Given the description of an element on the screen output the (x, y) to click on. 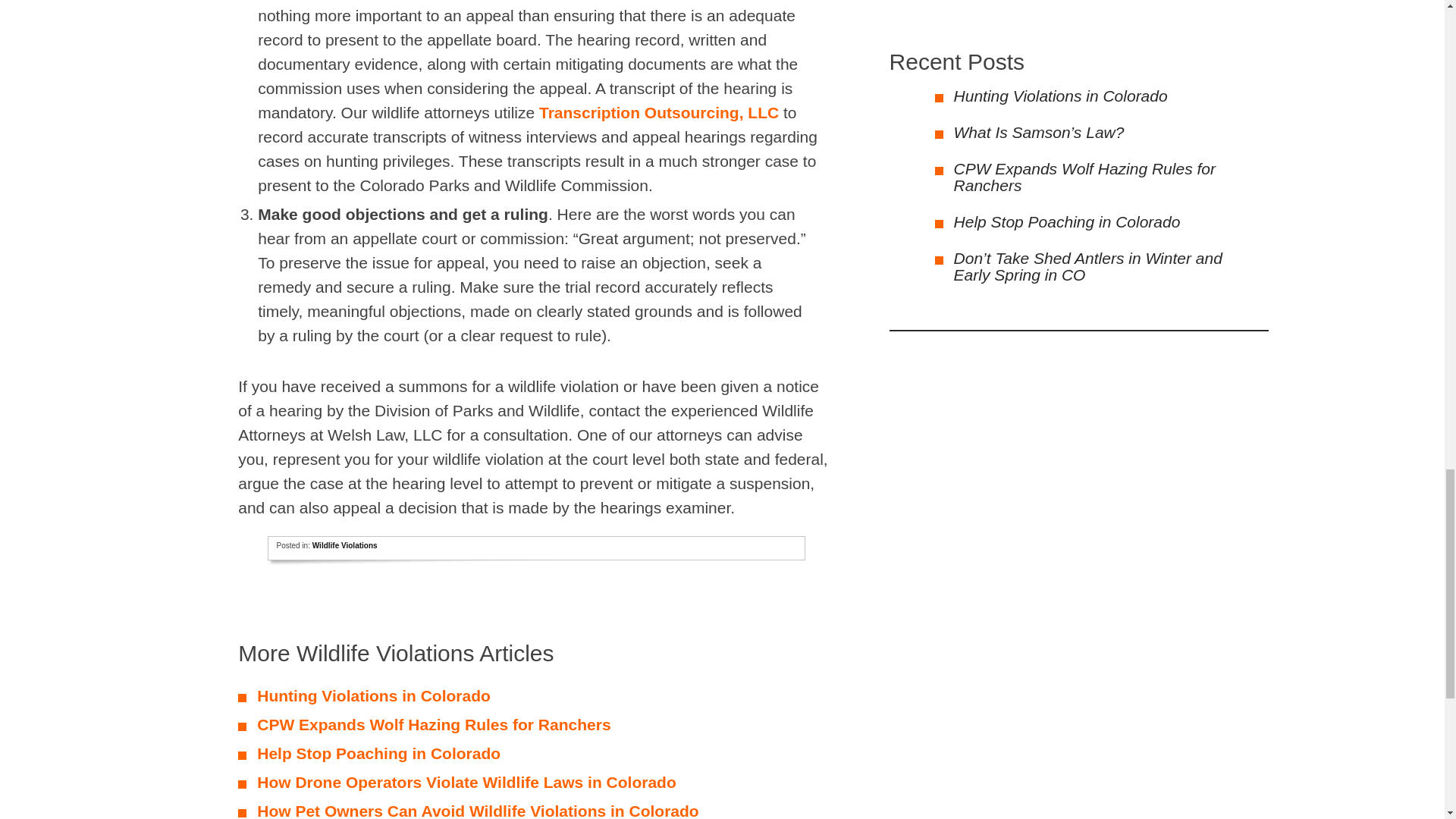
Hunting Violations in Colorado (373, 695)
How Drone Operators Violate Wildlife Laws in Colorado (467, 782)
Wildlife Violations (345, 545)
How Pet Owners Can Avoid Wildlife Violations in Colorado (477, 810)
Help Stop Poaching in Colorado (378, 753)
Transcription Outsourcing, LLC (658, 111)
CPW Expands Wolf Hazing Rules for Ranchers (433, 724)
Hunting Violations in Colorado (1060, 95)
